Given the description of an element on the screen output the (x, y) to click on. 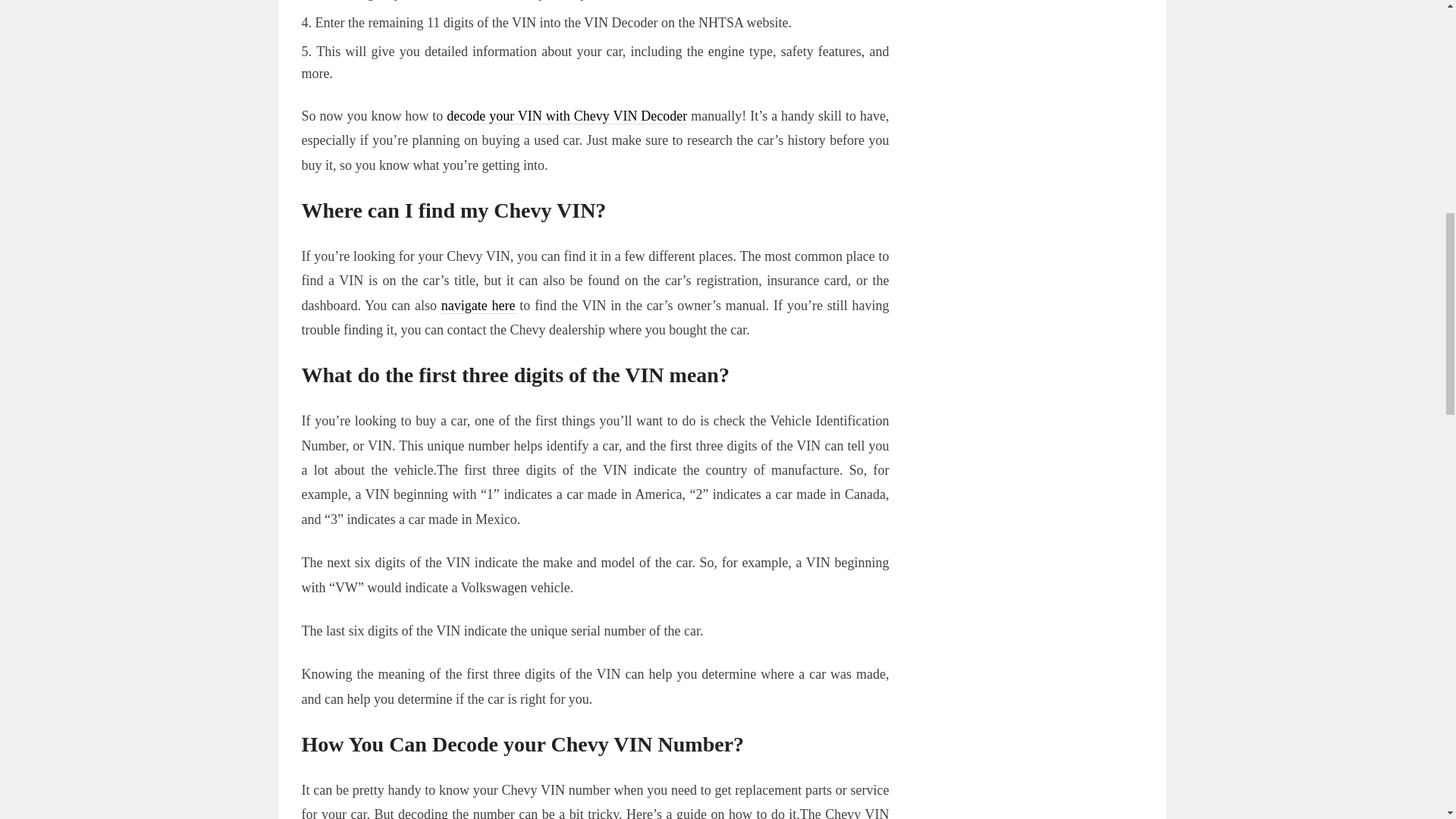
decode your VIN with Chevy VIN Decoder (566, 116)
navigate here (478, 305)
